Given the description of an element on the screen output the (x, y) to click on. 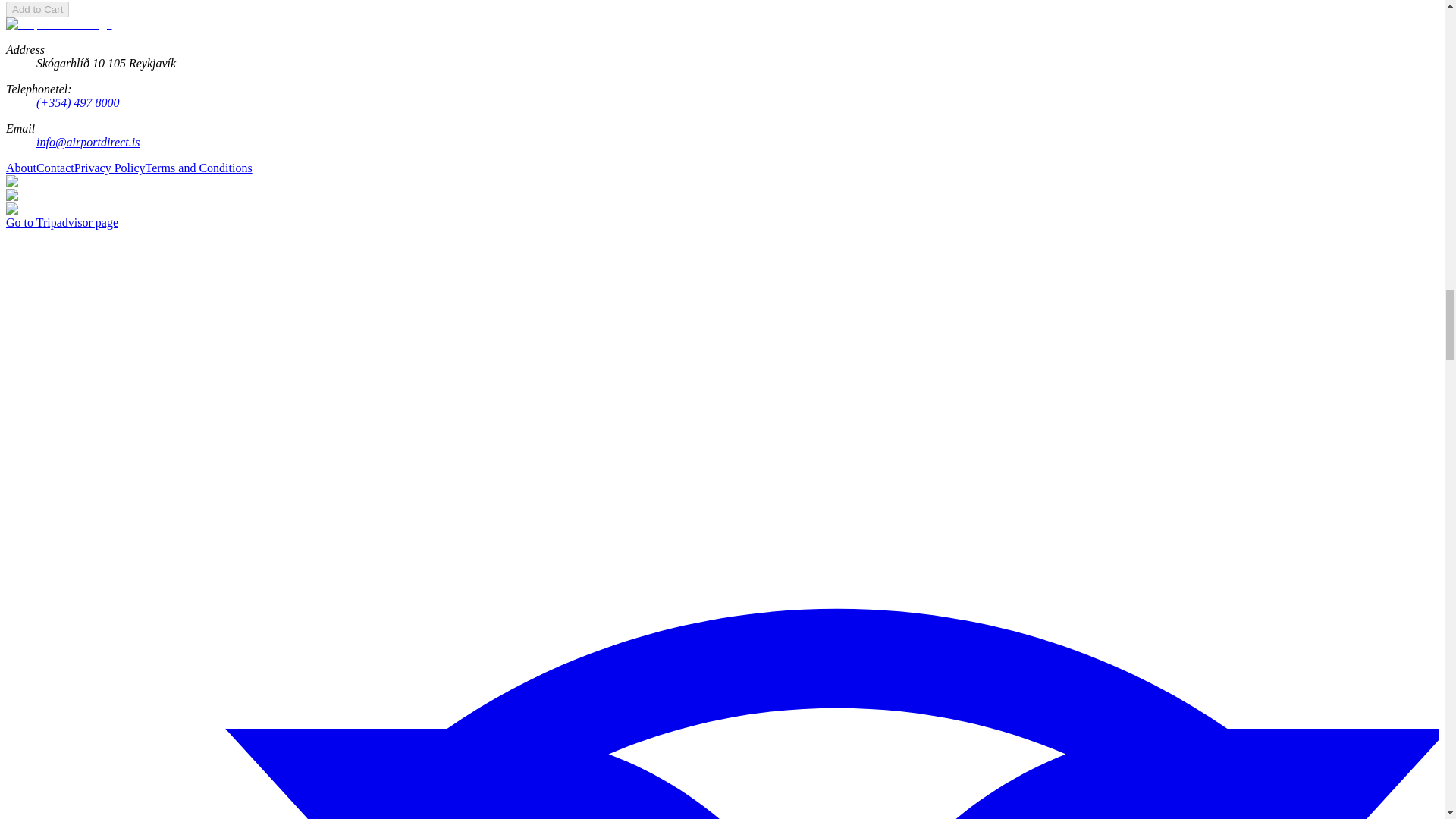
Terms and Conditions (198, 167)
About (20, 167)
Contact (55, 167)
Add to Cart (36, 9)
Privacy Policy (109, 167)
